Given the description of an element on the screen output the (x, y) to click on. 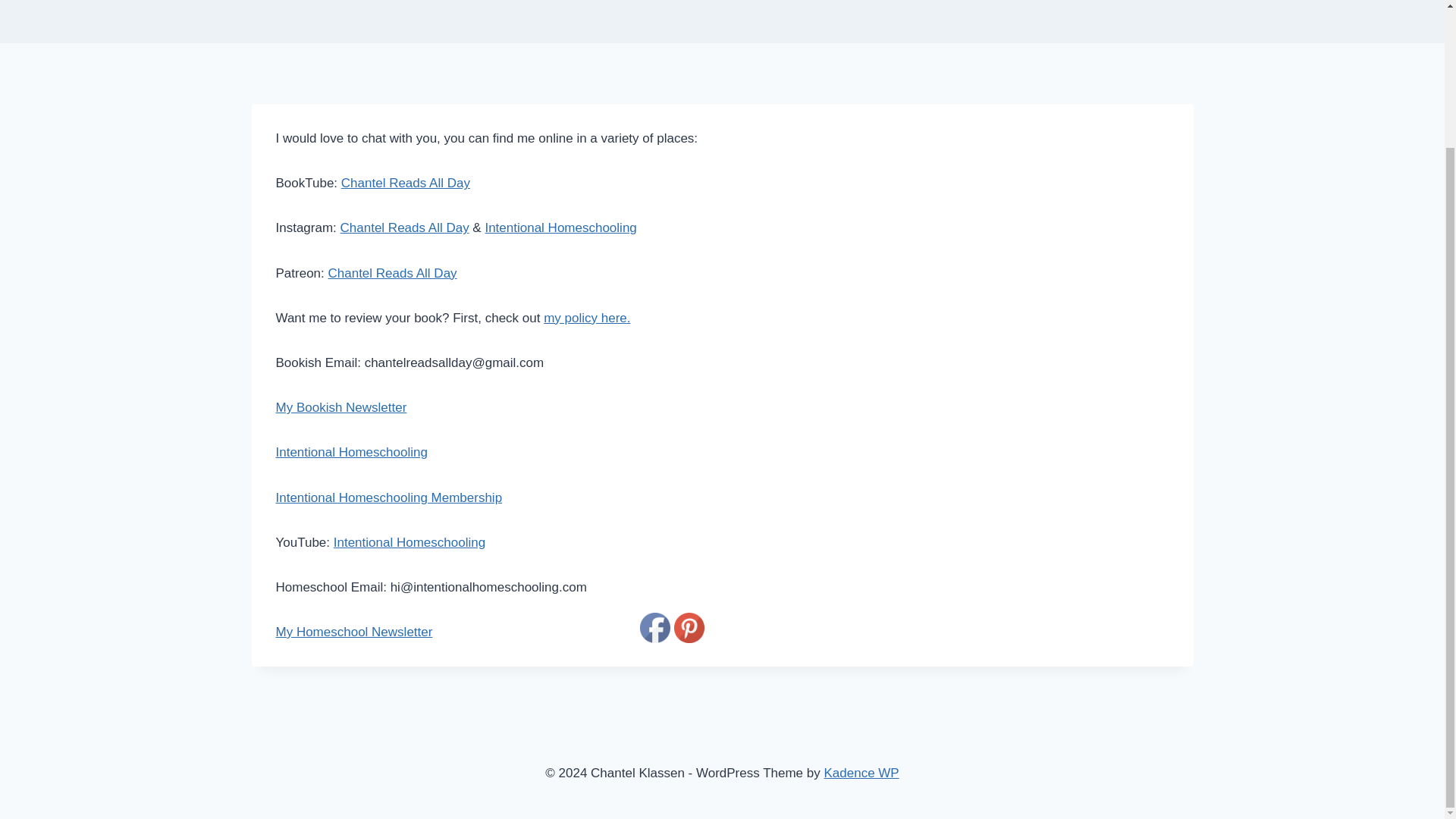
Facebook (654, 627)
Chantel Reads All Day (405, 183)
Intentional Homeschooling Membership (389, 497)
Pinterest (689, 627)
Chantel Reads All Day (392, 273)
my policy here. (586, 318)
Kadence WP (861, 772)
Intentional Homeschooling (352, 452)
Chantel Reads All Day (404, 227)
My Bookish Newsletter (341, 407)
